Given the description of an element on the screen output the (x, y) to click on. 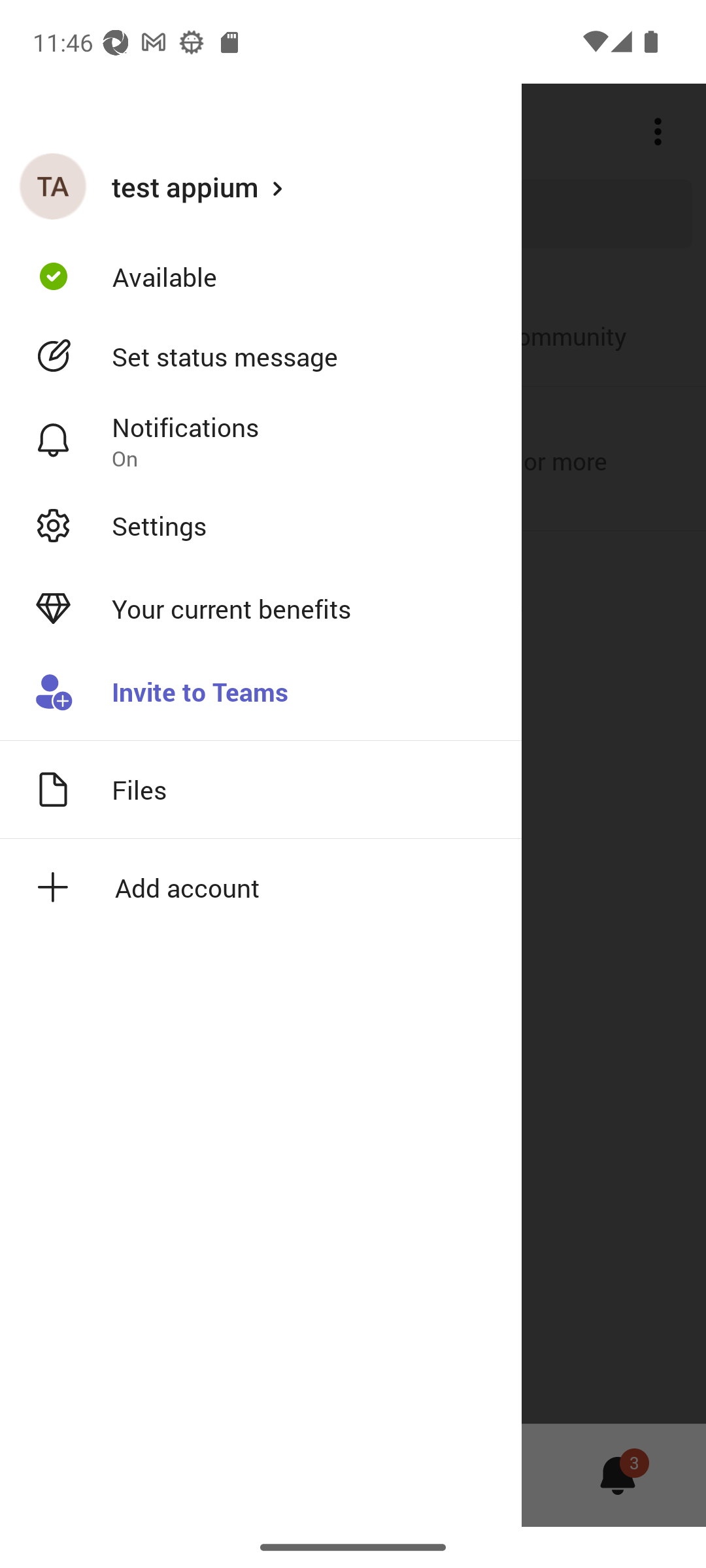
test appium (260, 186)
test appium profile picture (53, 186)
Notifications Notification settings On (260, 441)
Settings Open settings (260, 525)
Your current benefits (260, 608)
Invite to Teams Invite someone to your Teams org (260, 691)
Files (260, 789)
Add account icon Add account (260, 887)
